Given the description of an element on the screen output the (x, y) to click on. 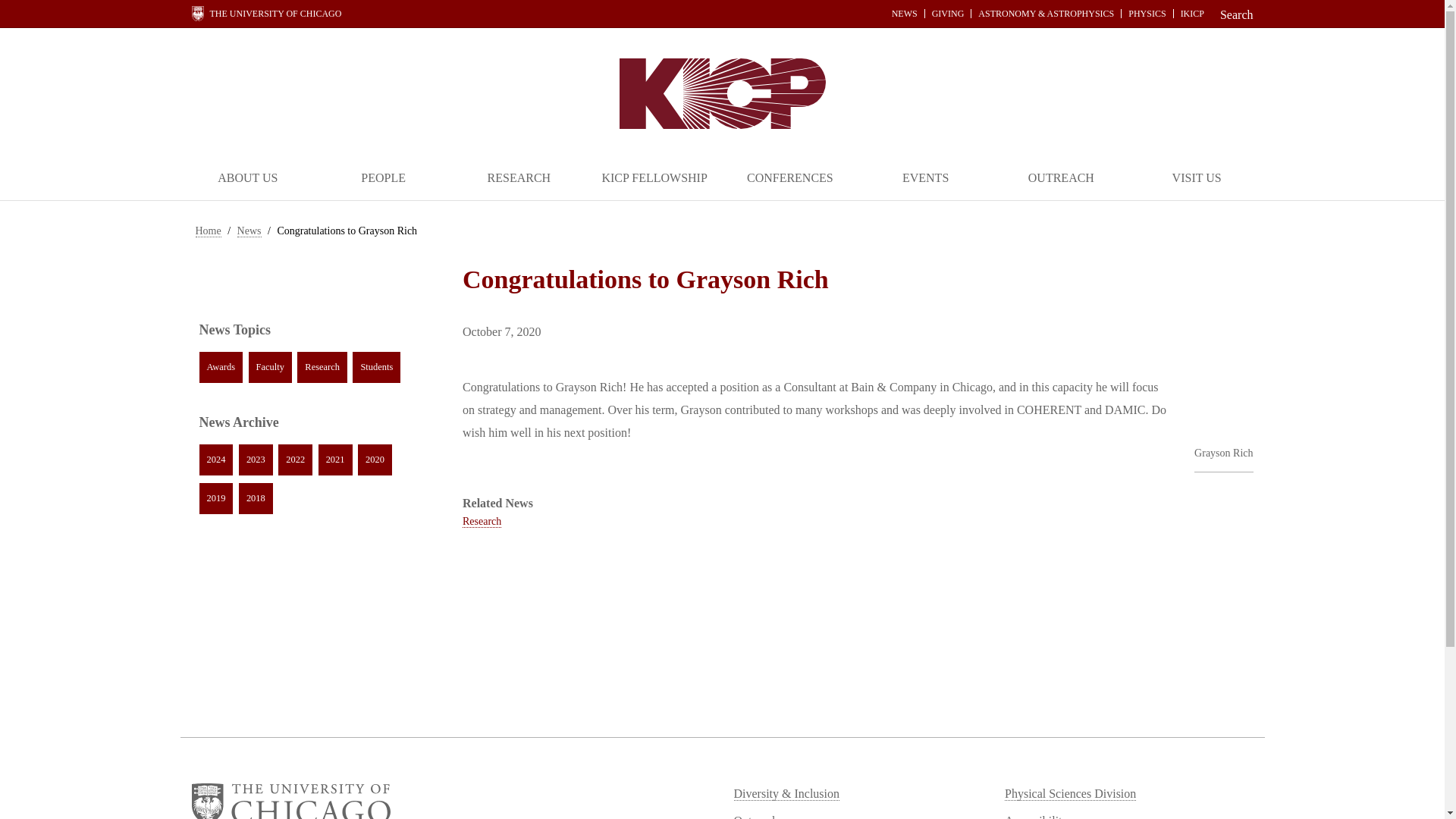
NEWS (904, 13)
RESEARCH (518, 178)
GIVING (947, 13)
KICP FELLOWSHIP (654, 178)
Kavli Institute for Cosmological Physics (721, 93)
OUTREACH (1060, 178)
THE UNIVERSITY OF CHICAGO (265, 13)
IKICP (1192, 13)
EVENTS (924, 178)
ABOUT US (247, 178)
CONFERENCES (789, 178)
VISIT US (1197, 178)
PEOPLE (383, 178)
Search (1232, 13)
PHYSICS (1146, 13)
